Given the description of an element on the screen output the (x, y) to click on. 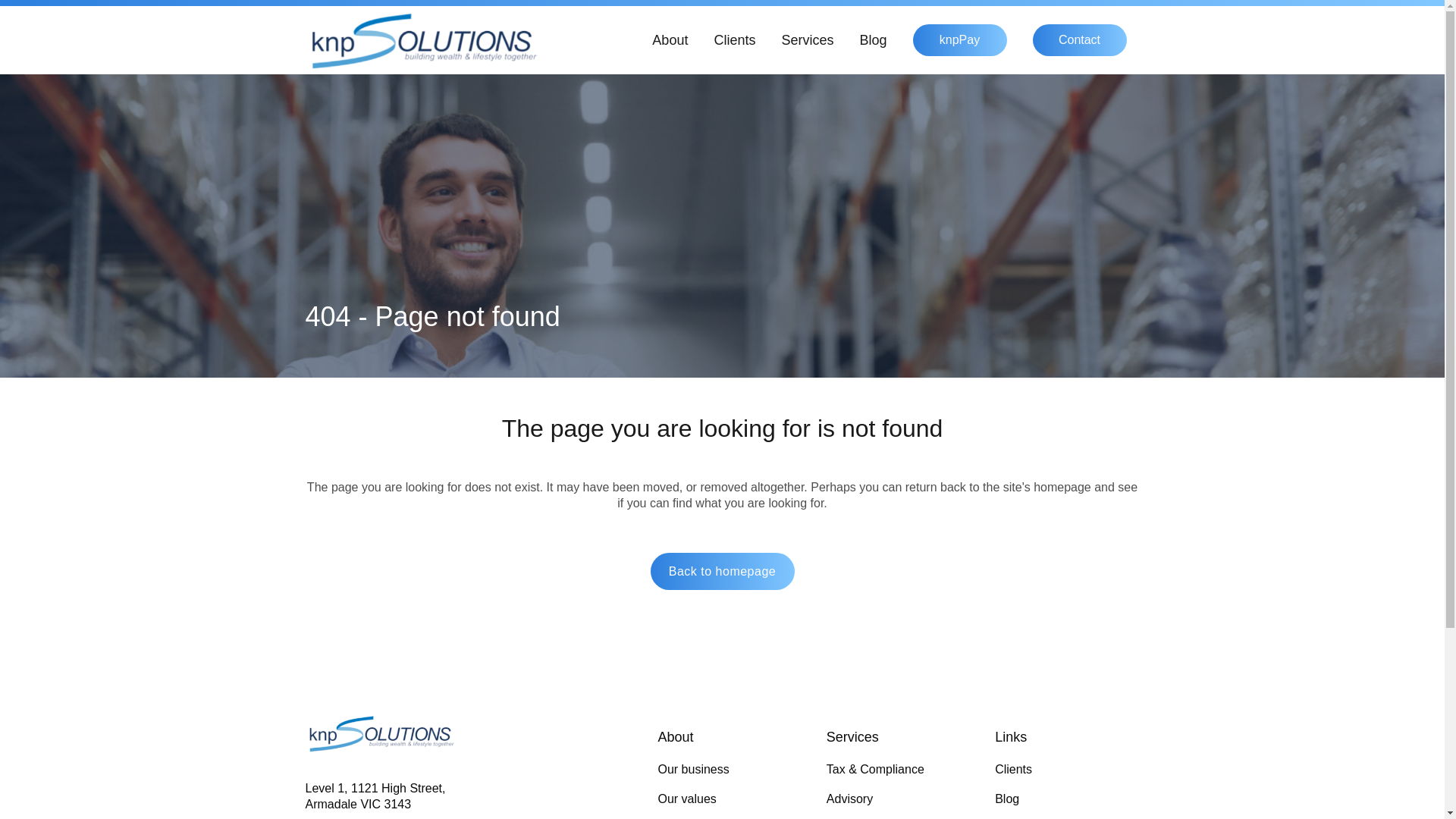
Tax & Compliance Element type: text (898, 769)
About Element type: text (669, 40)
Blog Element type: text (872, 40)
Our business Element type: text (730, 769)
Clients Element type: text (734, 40)
Advisory Element type: text (898, 798)
Our values Element type: text (730, 798)
Contact Element type: text (1079, 40)
knpPay Element type: text (959, 40)
Services Element type: text (807, 40)
Clients Element type: text (1066, 769)
Back to homepage Element type: text (722, 570)
Blog Element type: text (1066, 798)
